Given the description of an element on the screen output the (x, y) to click on. 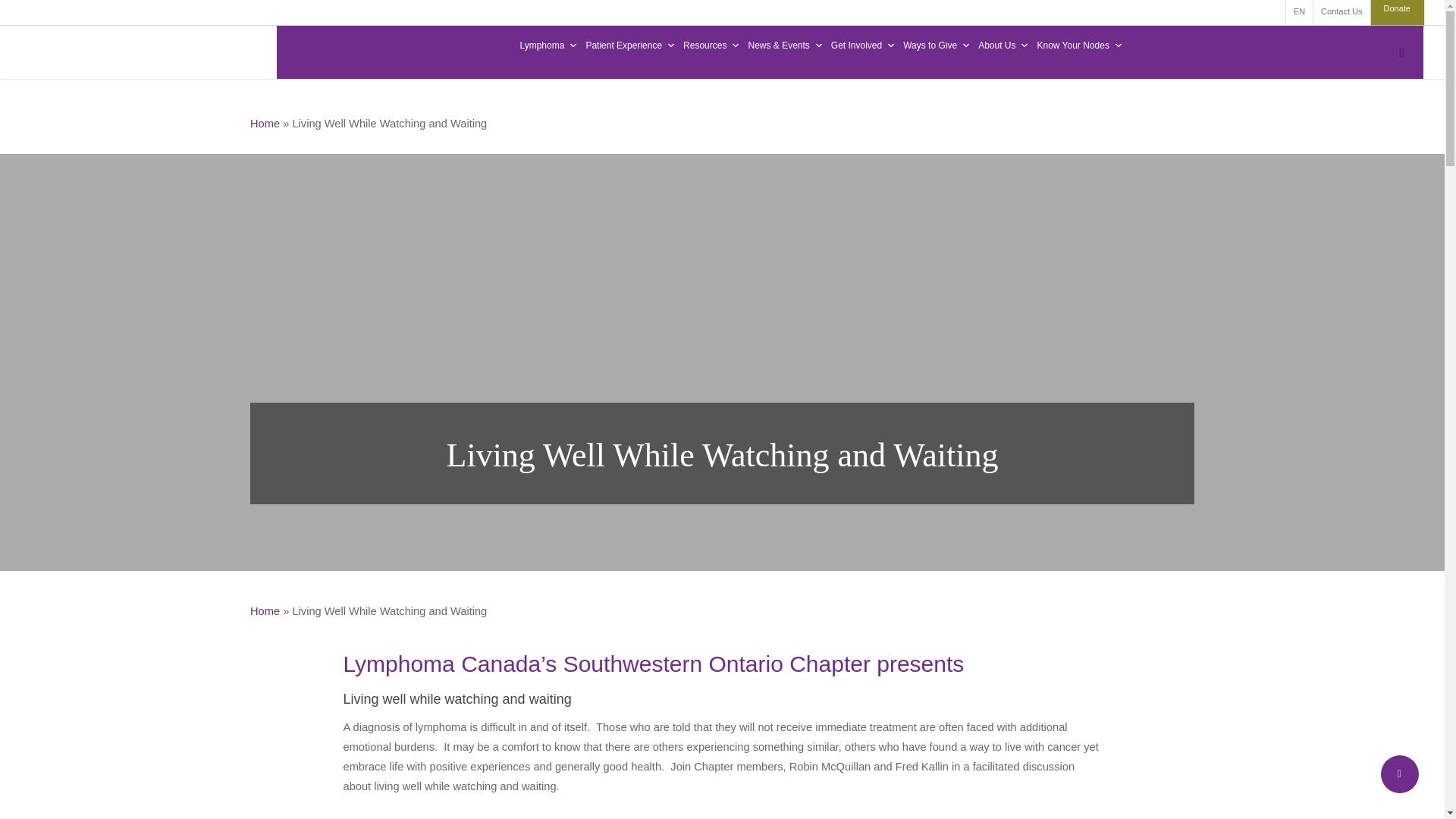
Lymphoma (547, 45)
Donate (1396, 12)
Contact Us (1341, 11)
Donate (1396, 12)
EN (1299, 11)
EN (1299, 11)
